Given the description of an element on the screen output the (x, y) to click on. 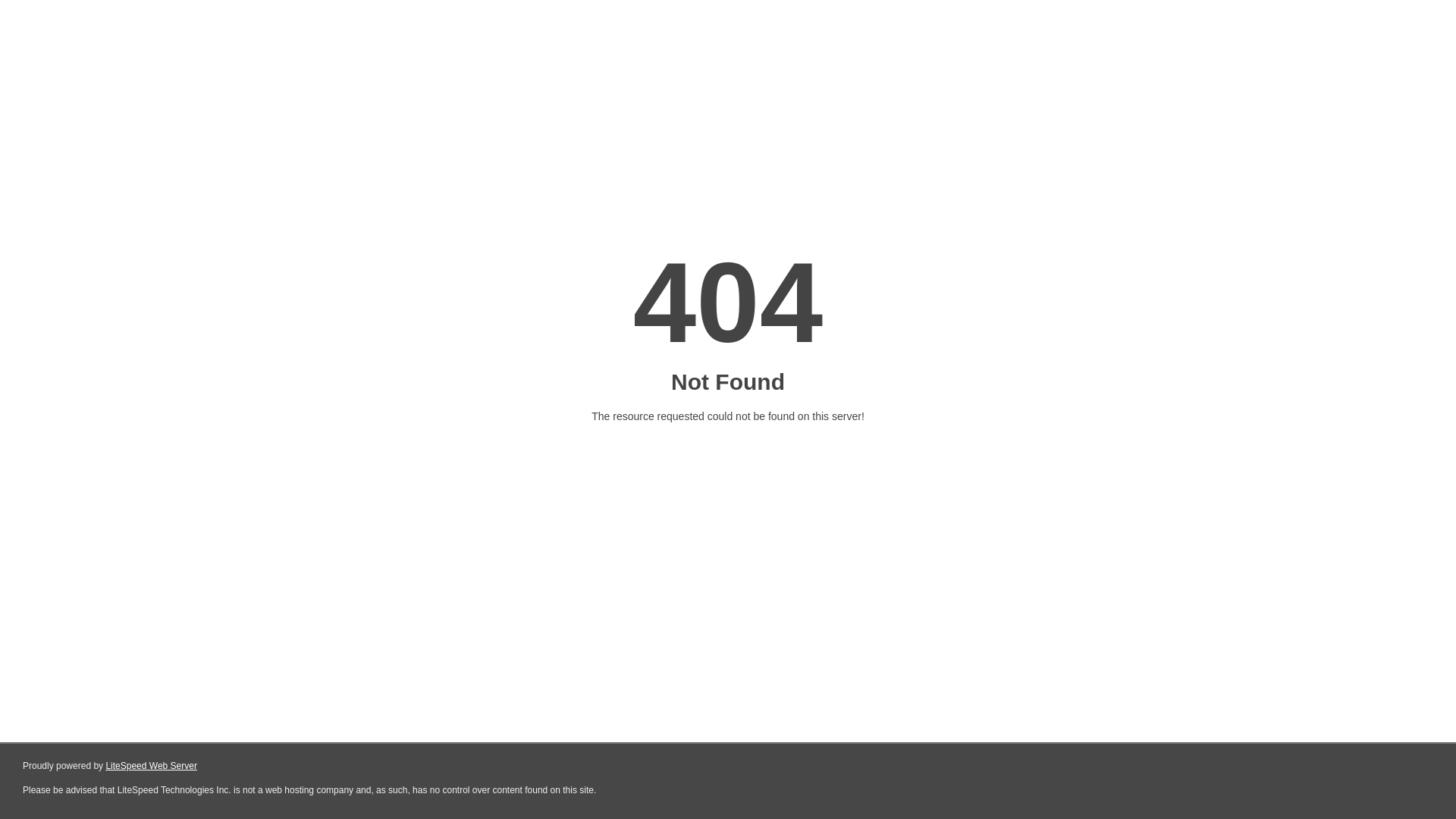
LiteSpeed Web Server Element type: text (151, 765)
